Given the description of an element on the screen output the (x, y) to click on. 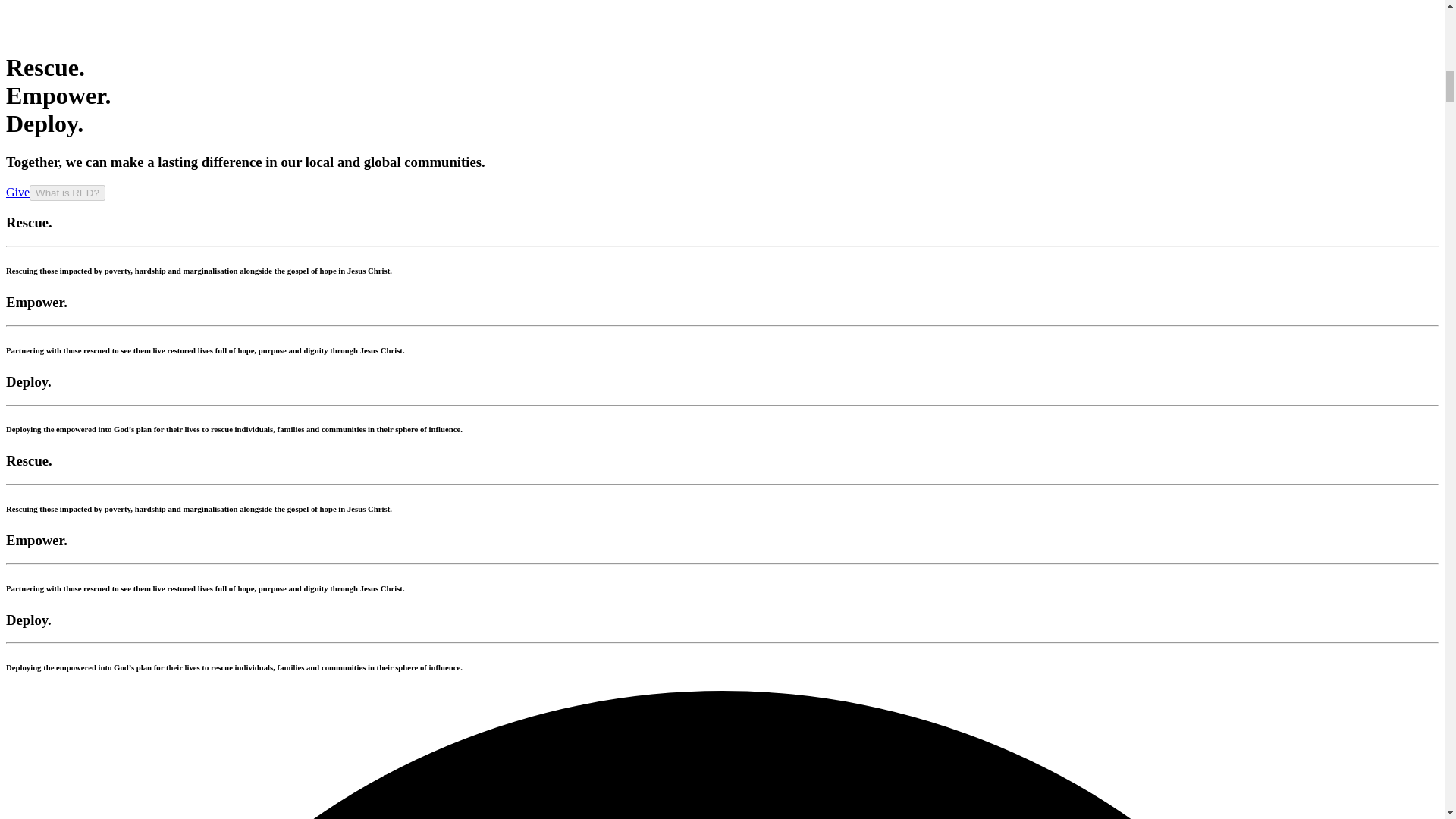
What is RED? (66, 192)
Give (17, 192)
